Given the description of an element on the screen output the (x, y) to click on. 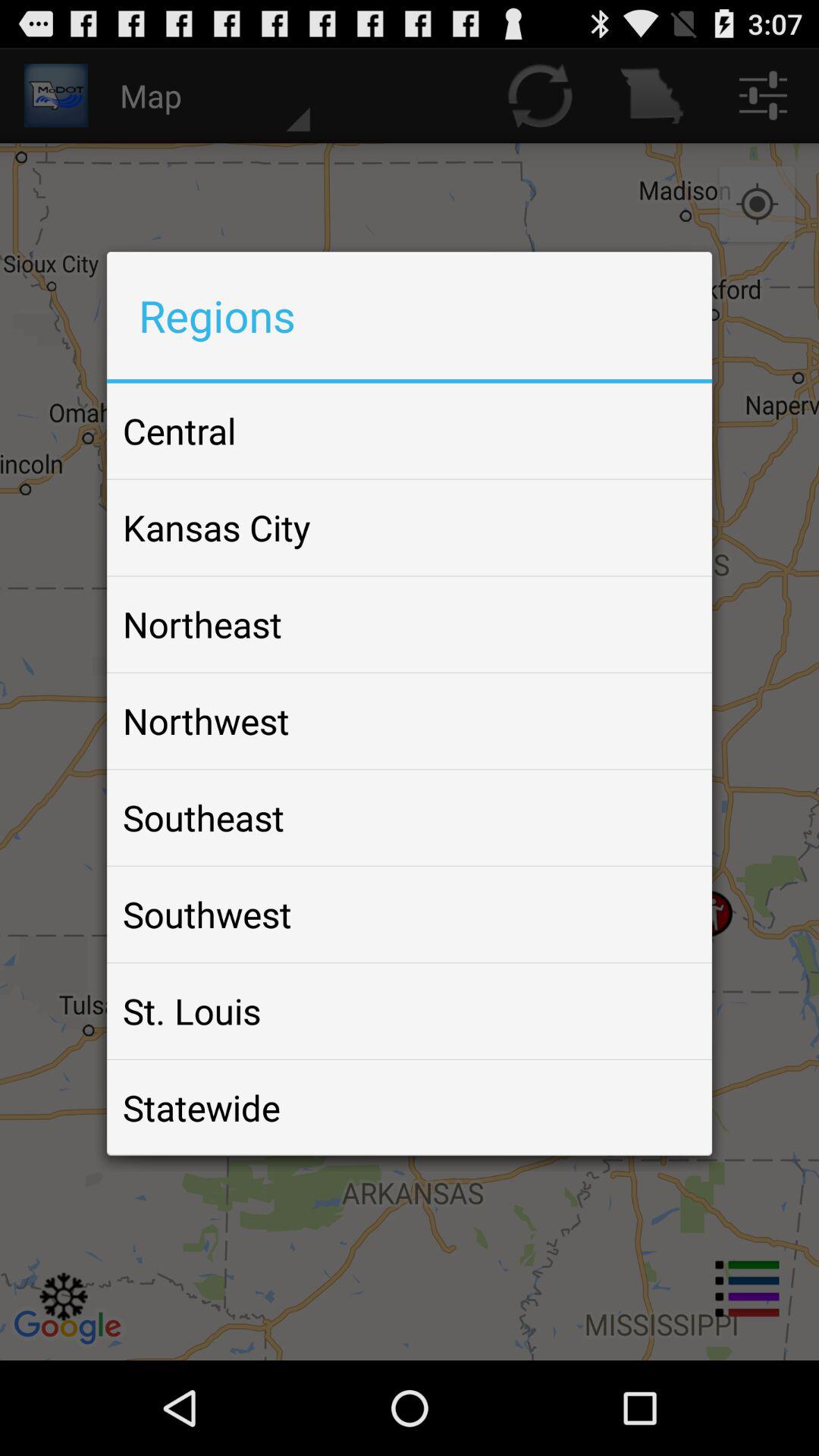
turn on kansas city (216, 527)
